Given the description of an element on the screen output the (x, y) to click on. 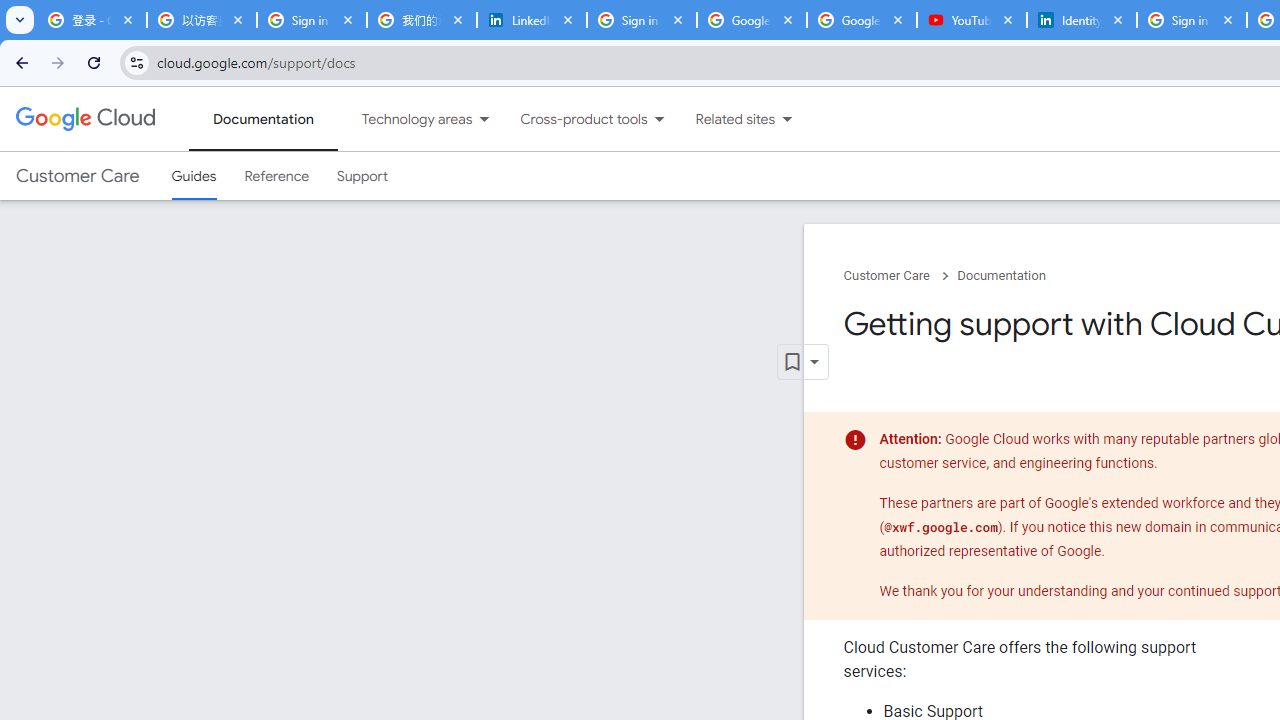
Sign in - Google Accounts (642, 20)
Guides, selected (193, 175)
Dropdown menu for Technology areas (484, 119)
Sign in - Google Accounts (312, 20)
Customer Care chevron_right (900, 276)
Google Cloud (84, 118)
Dropdown menu for Related sites (787, 119)
